Given the description of an element on the screen output the (x, y) to click on. 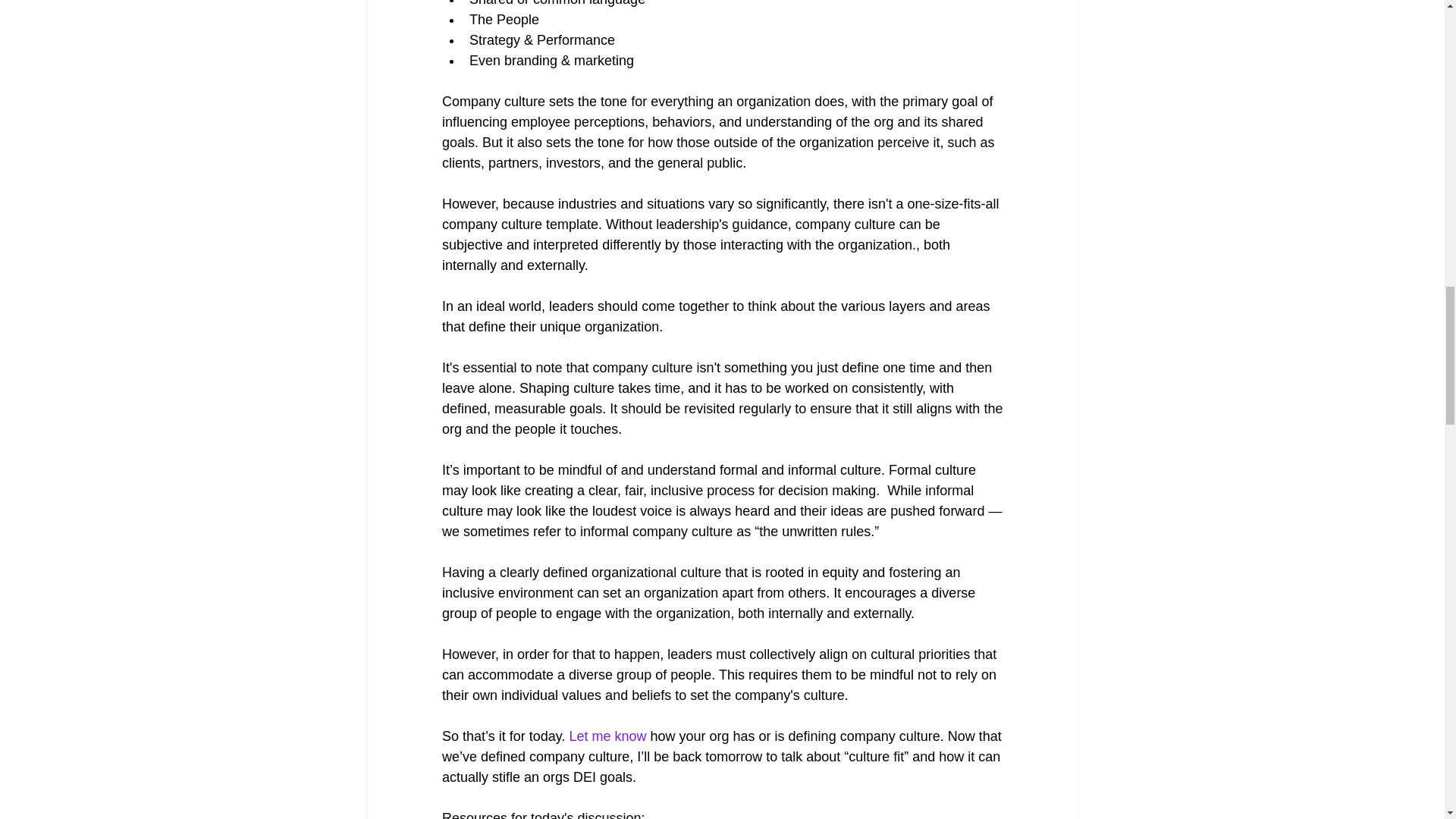
Let me know (607, 735)
